Given the description of an element on the screen output the (x, y) to click on. 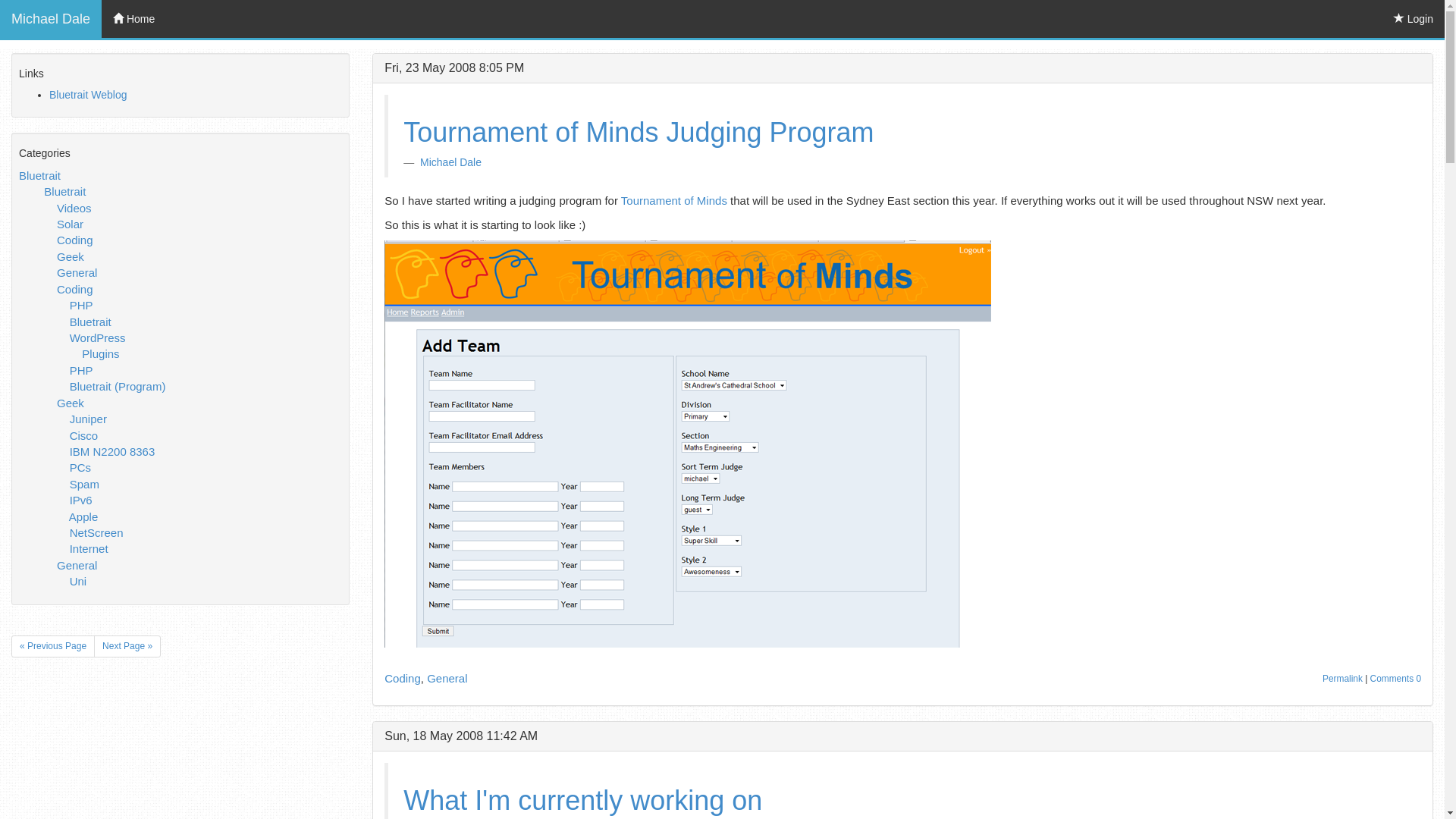
Login Element type: text (1413, 18)
Juniper Element type: text (87, 418)
Geek Element type: text (70, 402)
Home Element type: text (133, 18)
IBM N2200 8363 Element type: text (112, 451)
PHP Element type: text (81, 370)
Coding Element type: text (74, 288)
Apple Element type: text (83, 516)
Plugins Element type: text (100, 353)
Uni Element type: text (78, 580)
What I'm currently working on Element type: text (582, 799)
Solar Element type: text (69, 223)
Coding Element type: text (402, 677)
Comments 0 Element type: text (1395, 678)
Internet Element type: text (88, 548)
PCs Element type: text (80, 467)
Permalink Element type: text (1342, 678)
Coding Element type: text (74, 239)
Bluetrait Element type: text (90, 321)
Geek Element type: text (70, 256)
Tournament of Minds Judging Program Element type: text (638, 131)
Spam Element type: text (84, 483)
Michael Dale Element type: text (50, 18)
IPv6 Element type: text (80, 499)
Videos Element type: text (73, 207)
Bluetrait (Program) Element type: text (117, 385)
General Element type: text (76, 564)
General Element type: text (76, 272)
NetScreen Element type: text (96, 532)
WordPress Element type: text (97, 337)
Tournament of Minds Element type: text (674, 200)
Bluetrait Element type: text (39, 175)
Bluetrait Weblog Element type: text (87, 94)
Michael Dale Element type: text (450, 162)
Bluetrait Element type: text (64, 191)
Cisco Element type: text (83, 435)
PHP Element type: text (81, 304)
General Element type: text (446, 677)
